Given the description of an element on the screen output the (x, y) to click on. 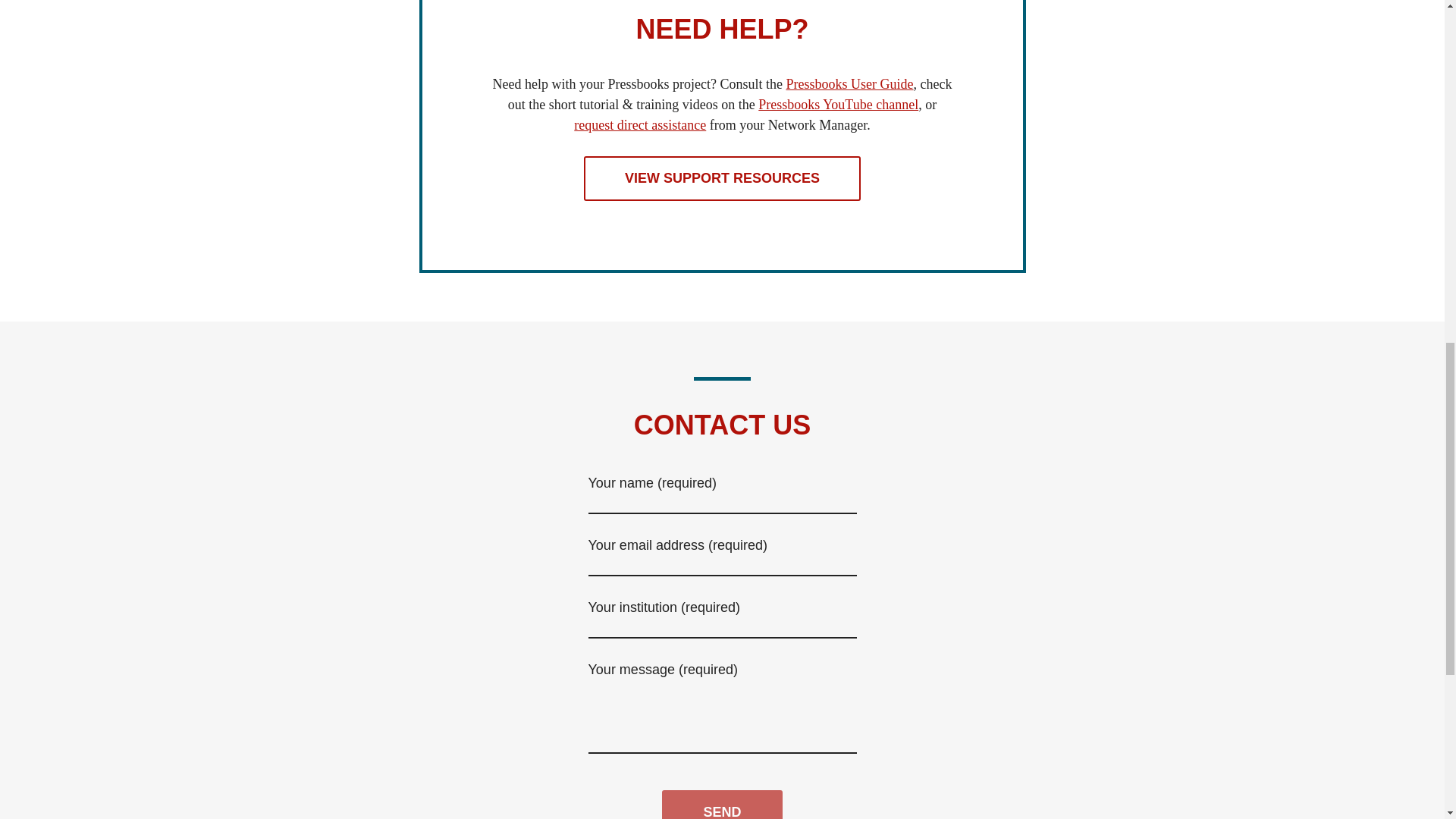
View Support Resources (721, 178)
Pressbooks YouTube channel (838, 104)
Pressbooks User Guide (849, 83)
Send (721, 804)
request direct assistance (639, 124)
VIEW SUPPORT RESOURCES (721, 178)
Send (721, 804)
